Given the description of an element on the screen output the (x, y) to click on. 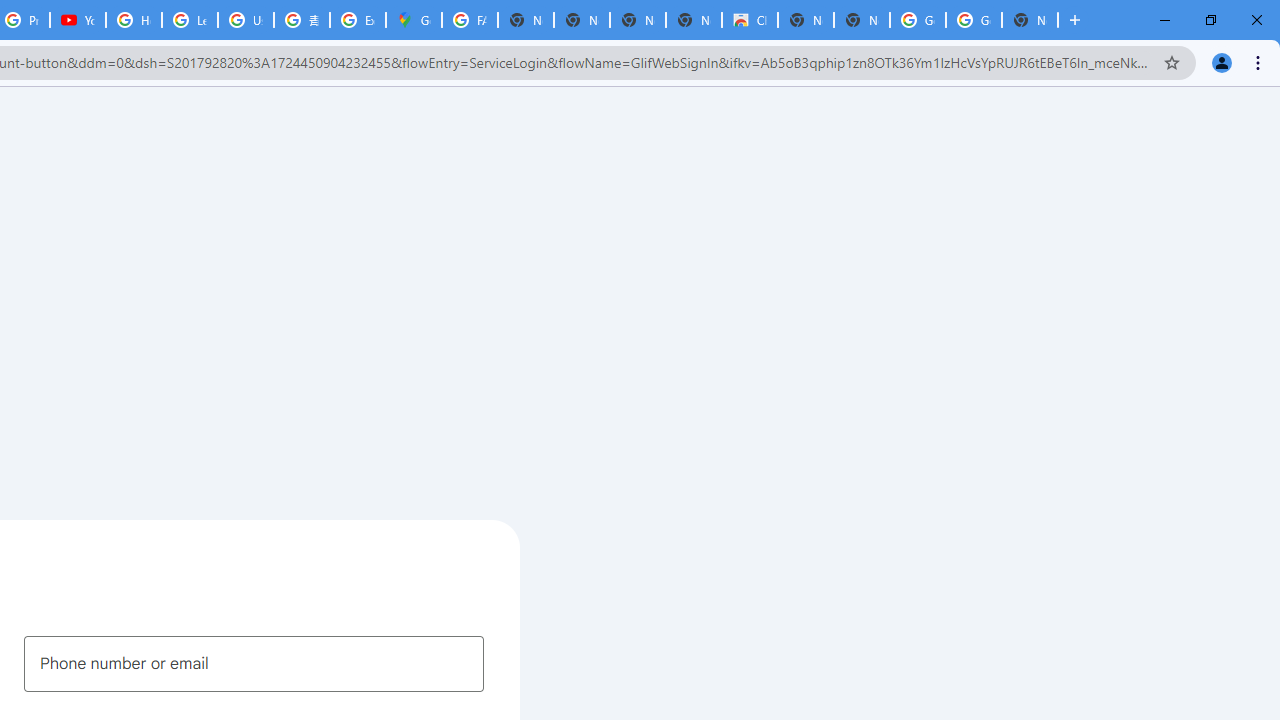
Phone number or email (253, 663)
Explore new street-level details - Google Maps Help (358, 20)
